Given the description of an element on the screen output the (x, y) to click on. 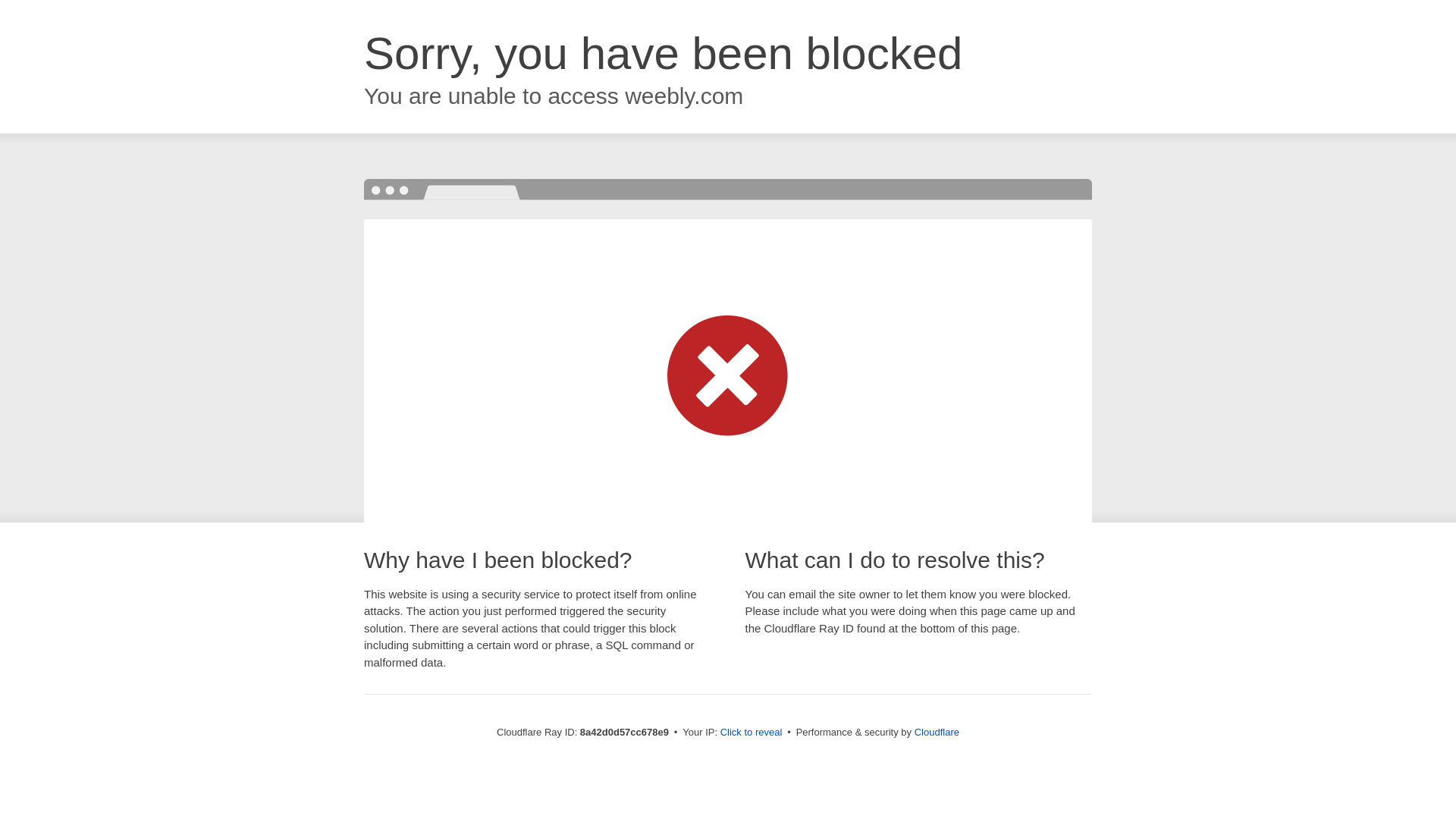
Cloudflare (936, 731)
Click to reveal (751, 732)
